Given the description of an element on the screen output the (x, y) to click on. 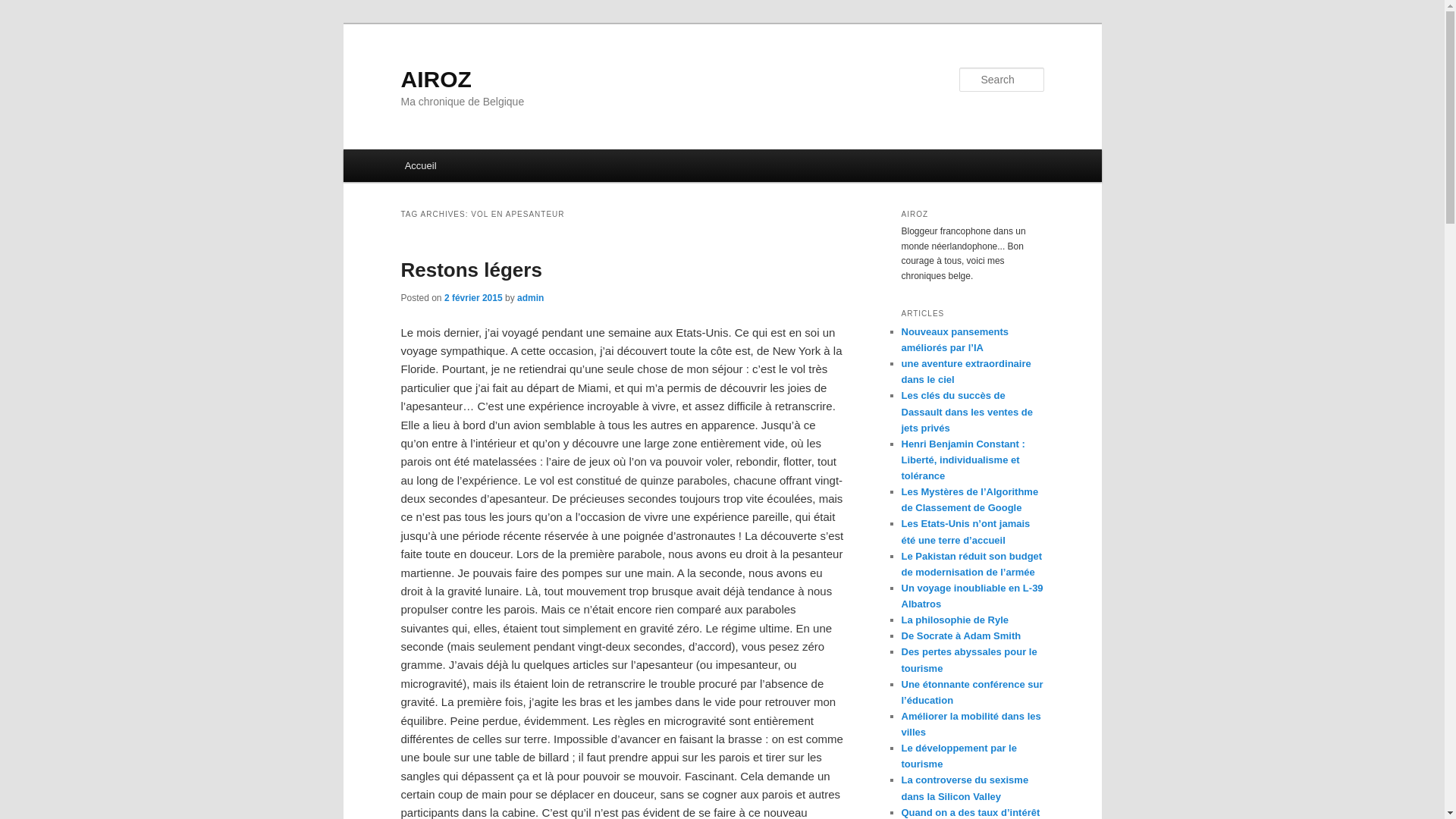
Skip to secondary content Element type: text (479, 168)
Accueil Element type: text (420, 165)
La controverse du sexisme dans la Silicon Valley Element type: text (964, 787)
Skip to primary content Element type: text (472, 168)
une aventure extraordinaire dans le ciel Element type: text (965, 371)
Un voyage inoubliable en L-39 Albatros Element type: text (971, 595)
admin Element type: text (530, 297)
Des pertes abyssales pour le tourisme Element type: text (968, 659)
La philosophie de Ryle Element type: text (954, 619)
Search Element type: text (24, 8)
AIROZ Element type: text (435, 78)
